Given the description of an element on the screen output the (x, y) to click on. 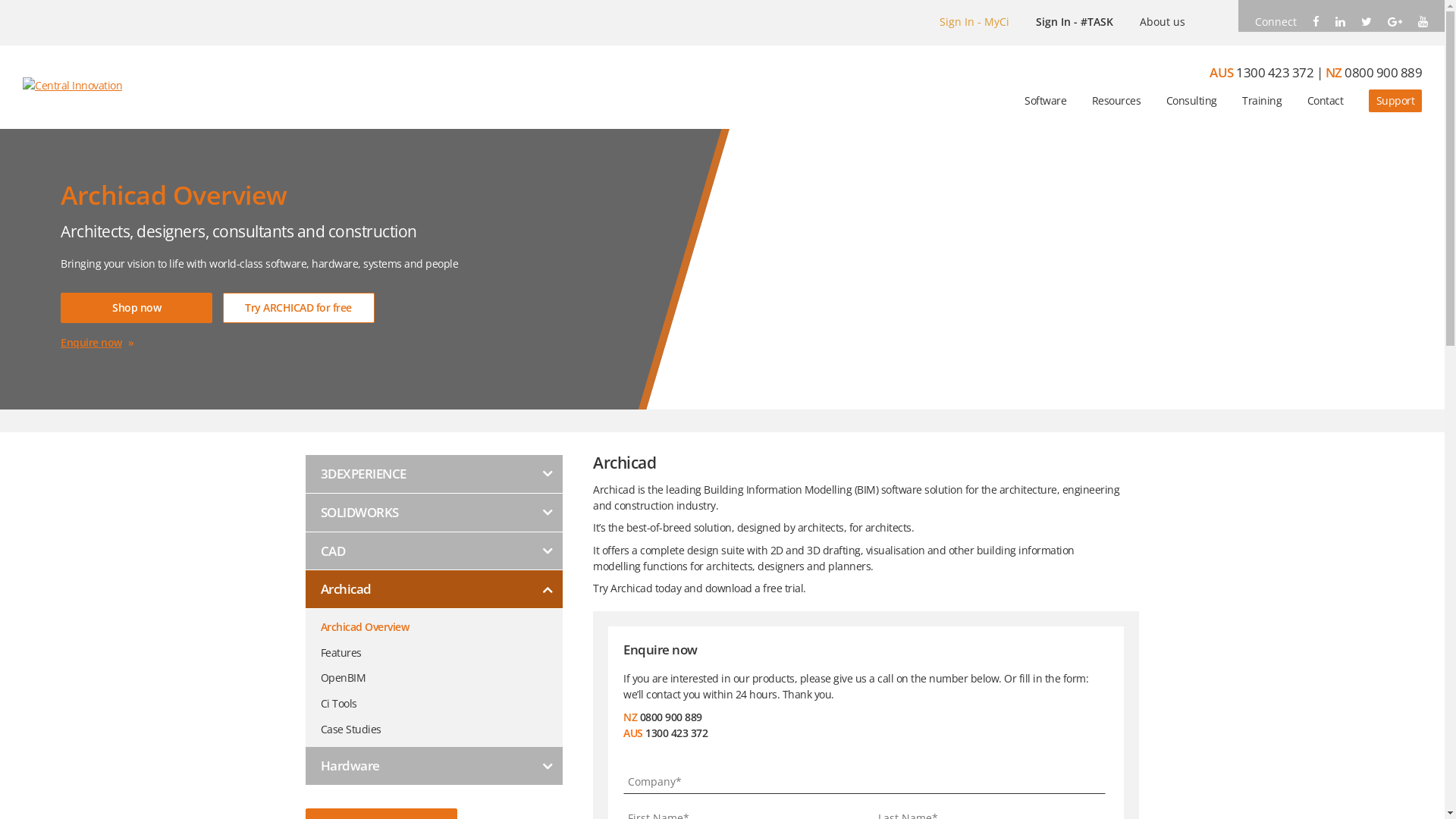
3DEXPERIENCE Element type: text (433, 474)
Hardware Element type: text (433, 765)
Shop now Element type: text (136, 307)
Software Element type: text (1045, 100)
About us Element type: text (1162, 21)
Sign In - #TASK Element type: text (1074, 21)
0800 900 889 Element type: text (1382, 72)
1300 423 372 Element type: text (1274, 72)
OpenBIM Element type: text (441, 672)
Features Element type: text (441, 647)
Contact Element type: text (1325, 100)
Consulting Element type: text (1191, 100)
Archicad Overview Element type: text (441, 621)
Support Element type: text (1394, 100)
Case Studies Element type: text (441, 724)
Try ARCHICAD for free Element type: text (298, 307)
Enquire now Element type: text (91, 342)
Training Element type: text (1261, 100)
Sign In - MyCi Element type: text (974, 21)
CAD Element type: text (433, 551)
Archicad Element type: text (433, 589)
SOLIDWORKS Element type: text (433, 512)
Ci Tools Element type: text (441, 698)
Resources Element type: text (1116, 100)
